Given the description of an element on the screen output the (x, y) to click on. 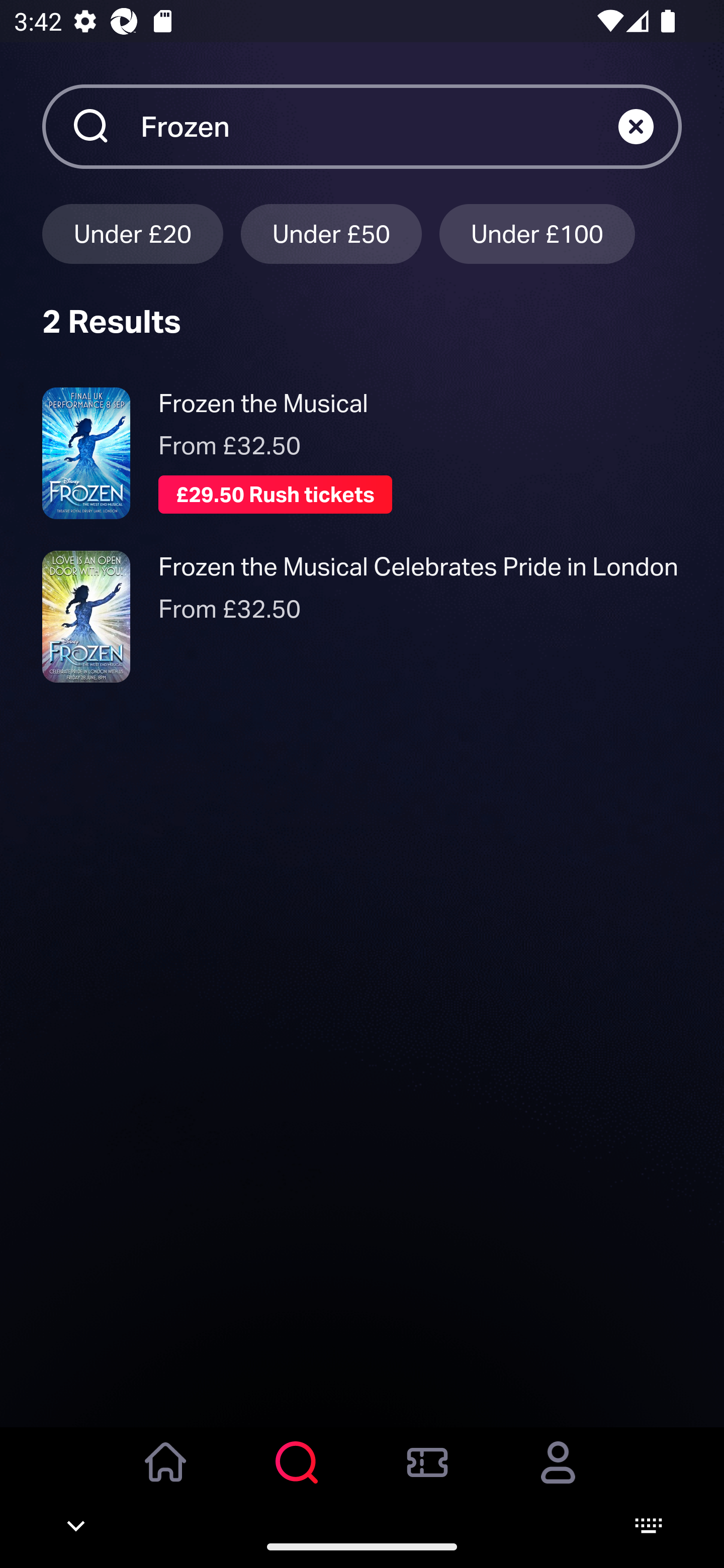
Frozen (379, 126)
Under £20 (131, 233)
Under £50 (331, 233)
Under £100 (536, 233)
Home (165, 1475)
Orders (427, 1475)
Account (558, 1475)
